Given the description of an element on the screen output the (x, y) to click on. 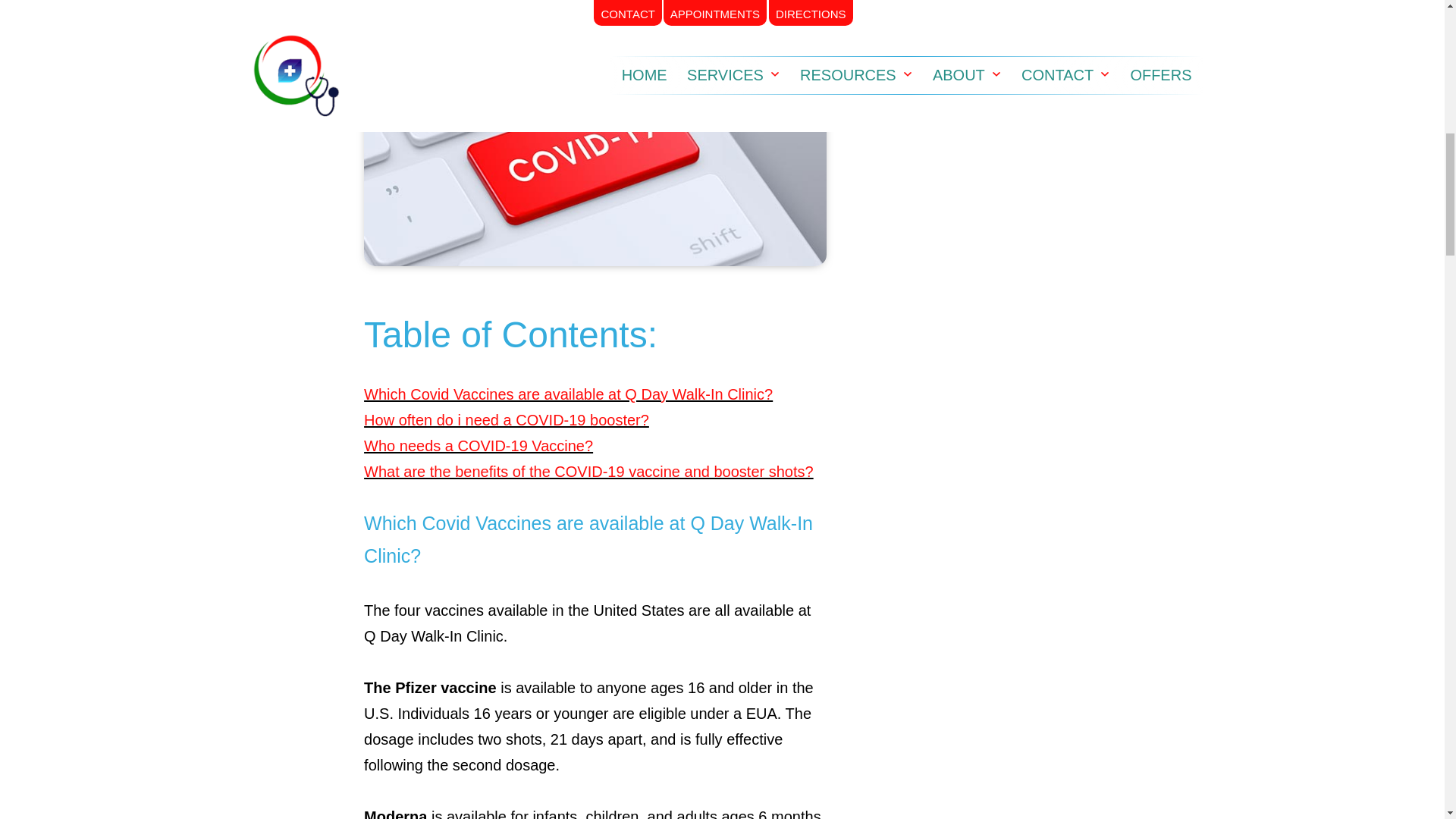
COVID-19 Vaccination Clinic Near Me in Plano, TX (595, 163)
